Given the description of an element on the screen output the (x, y) to click on. 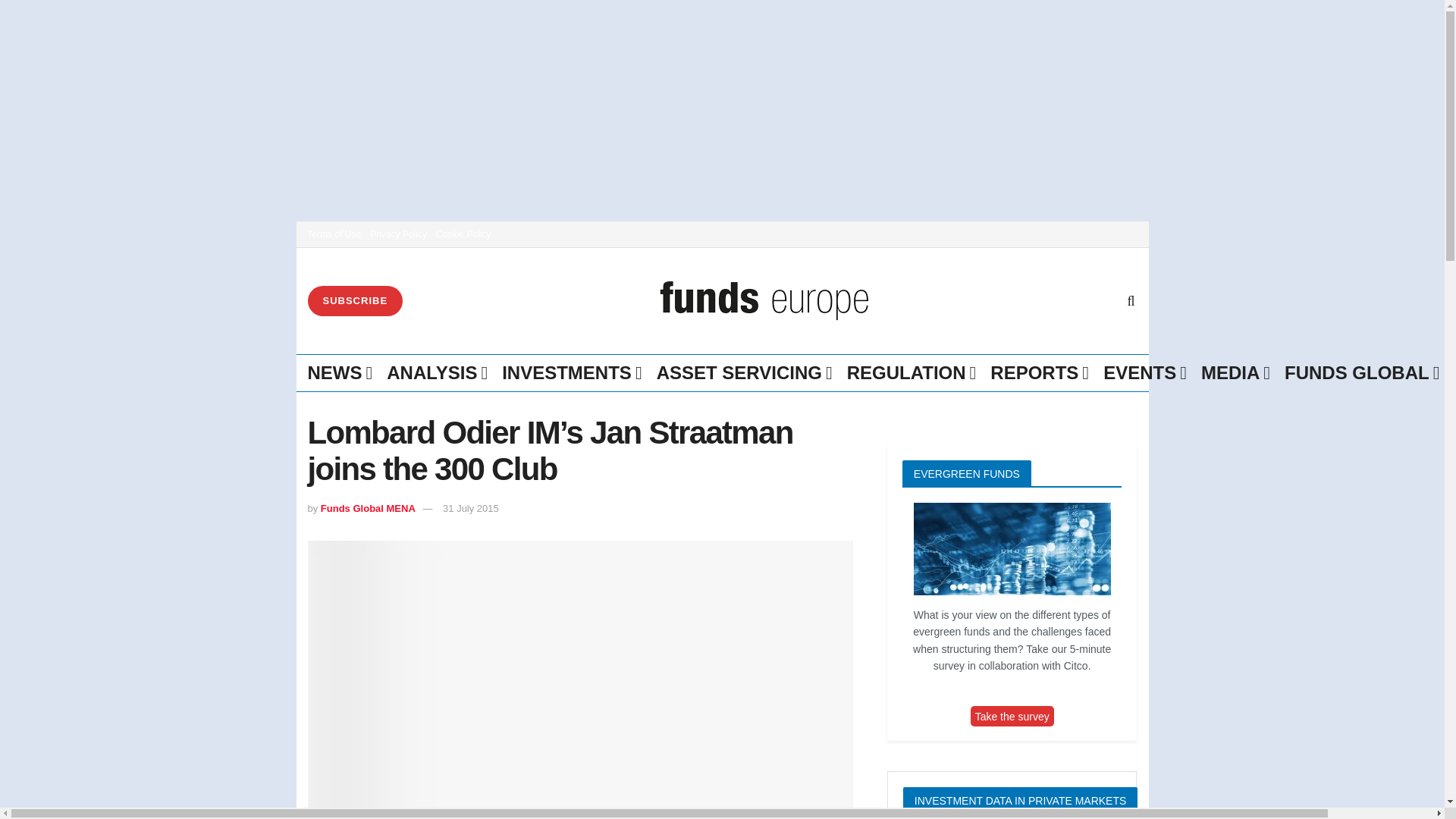
Privacy Policy (397, 234)
REPORTS (1038, 372)
SUBSCRIBE (355, 300)
ASSET SERVICING (742, 372)
REGULATION (910, 372)
NEWS (339, 372)
Terms of Use (334, 234)
EVENTS (1144, 372)
INVESTMENTS (570, 372)
ANALYSIS (435, 372)
